Given the description of an element on the screen output the (x, y) to click on. 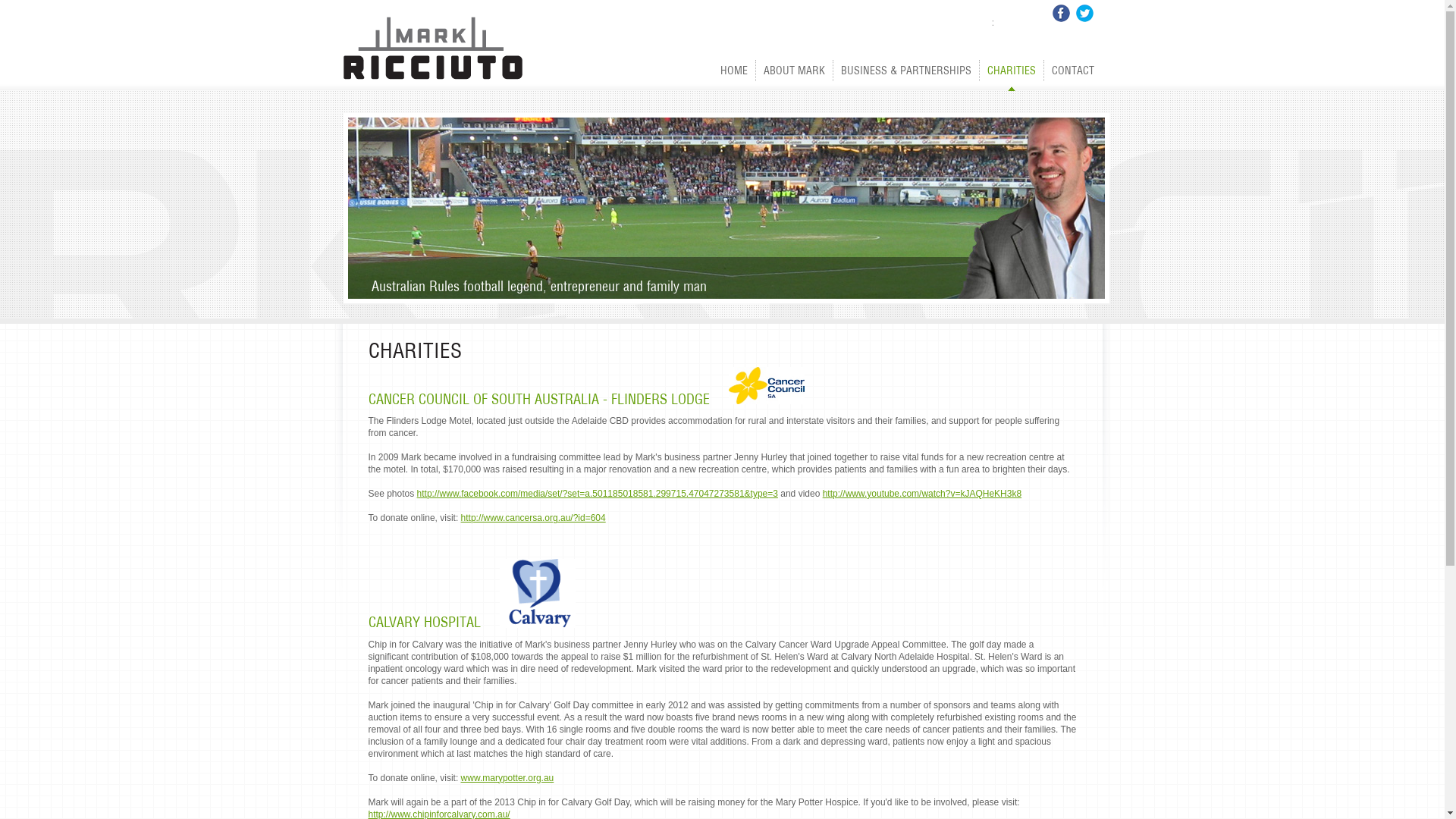
www.marypotter.org.au Element type: text (507, 777)
http://www.cancersa.org.au/?id=604 Element type: text (533, 517)
http://www.youtube.com/watch?v=kJAQHeKH3k8 Element type: text (921, 493)
HOME Element type: text (733, 70)
ABOUT MARK Element type: text (793, 70)
BUSINESS & PARTNERSHIPS Element type: text (905, 70)
Mark Ricciuto Element type: text (432, 48)
CHARITIES Element type: text (1011, 70)
CONTACT Element type: text (1072, 70)
